Given the description of an element on the screen output the (x, y) to click on. 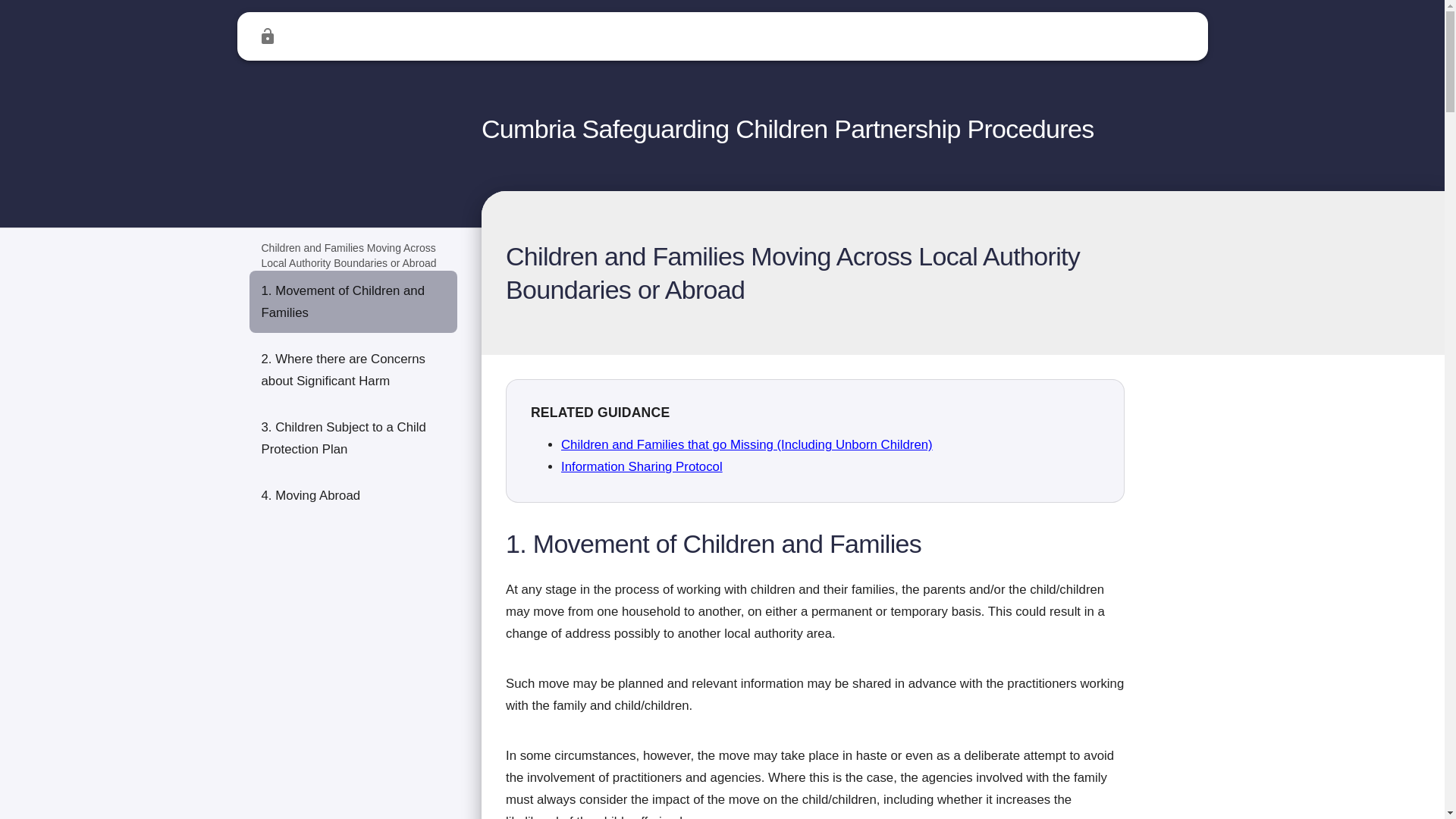
3. Children Subject to a Child Protection Plan (352, 438)
4. Moving Abroad (352, 495)
1. Movement of Children and Families (814, 556)
1. Movement of Children and Families (352, 301)
Login (266, 36)
Information Sharing Protocol (641, 466)
2. Where there are Concerns about Significant Harm (352, 370)
